Given the description of an element on the screen output the (x, y) to click on. 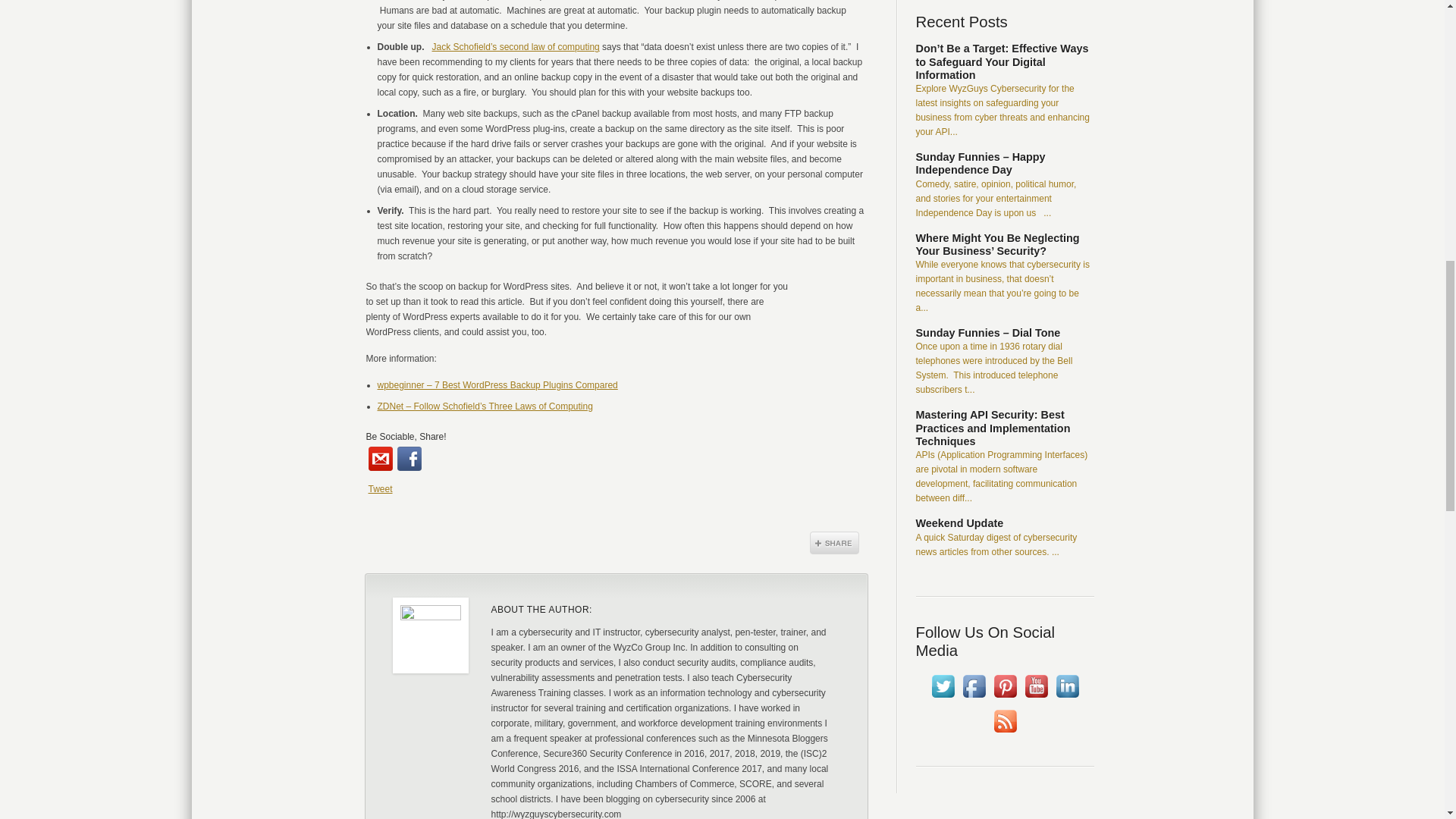
Facebook (409, 458)
Be Sociable, Share! (405, 436)
email (380, 458)
